Given the description of an element on the screen output the (x, y) to click on. 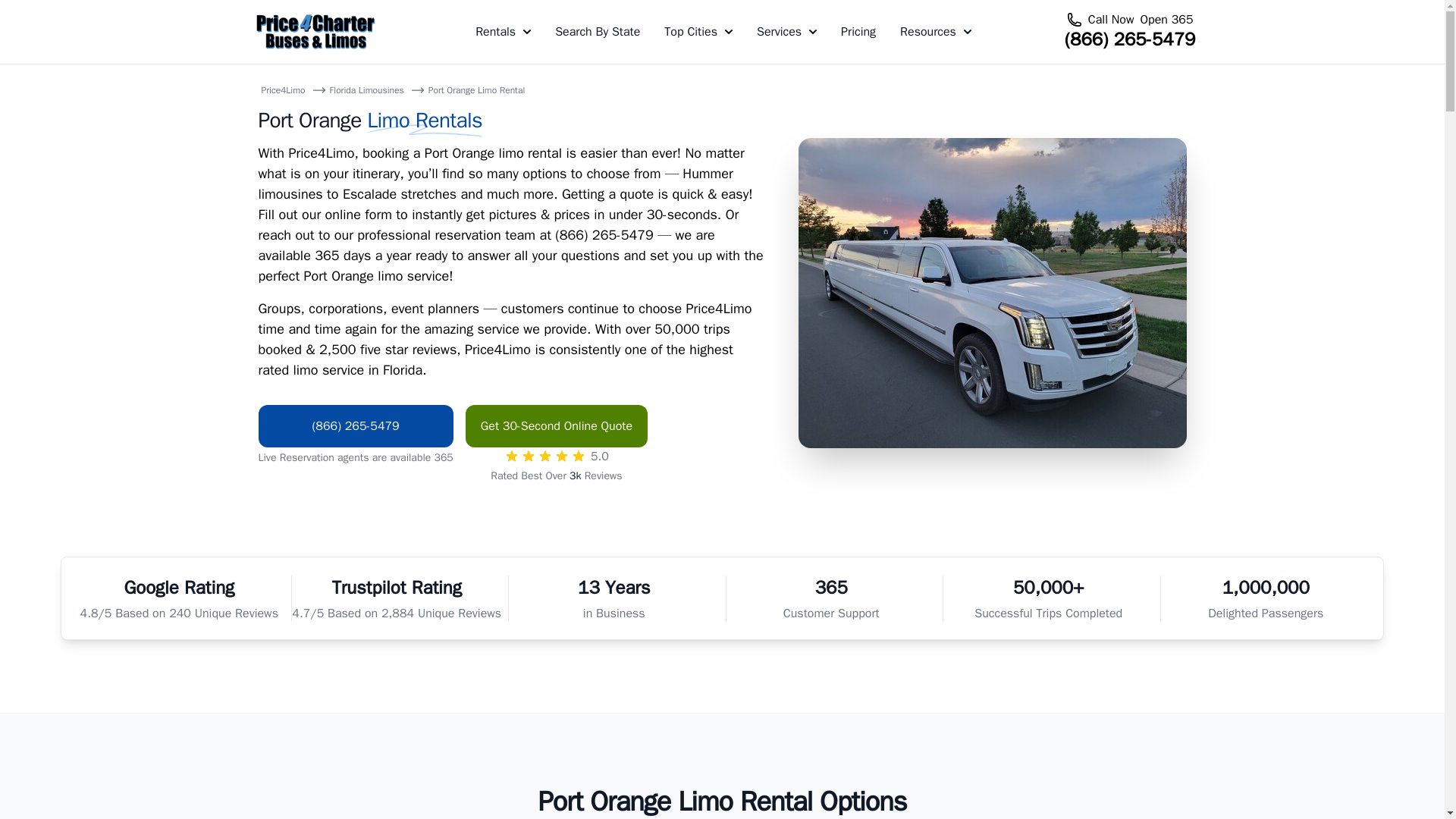
Pricing (858, 31)
Open 365 (1166, 19)
Rentals (503, 31)
Call Now (1110, 19)
Top Cities (697, 31)
Search By State (597, 31)
Resources (935, 31)
Services (786, 31)
